Given the description of an element on the screen output the (x, y) to click on. 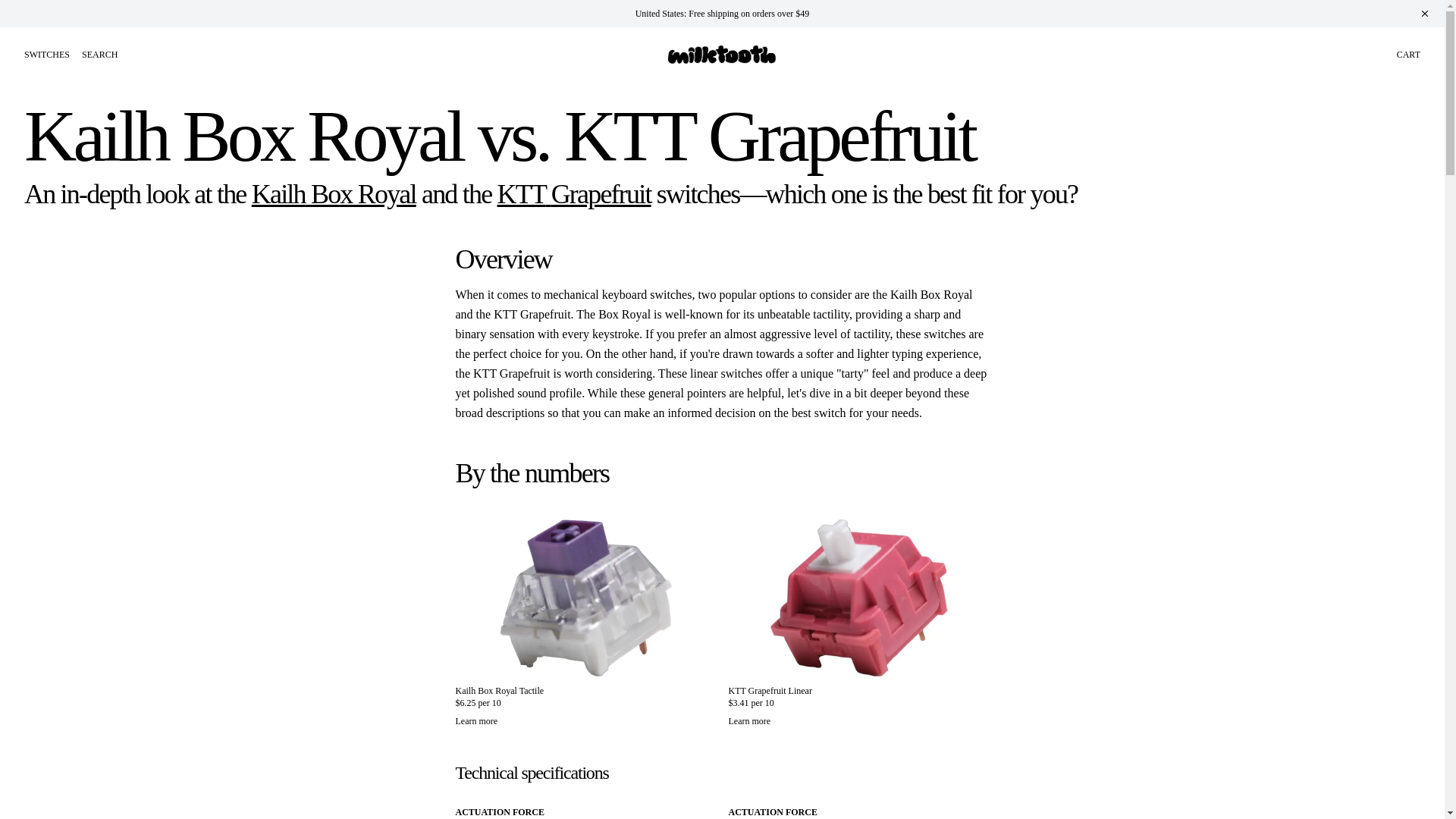
Kailh Box Royal Tactile (498, 690)
SEARCH (99, 54)
SWITCHES (46, 54)
Learn more (585, 720)
KTT Grapefruit Linear (769, 690)
Kailh Box Royal (333, 194)
KTT Grapefruit (573, 194)
CART (1408, 54)
Learn more (858, 720)
